Given the description of an element on the screen output the (x, y) to click on. 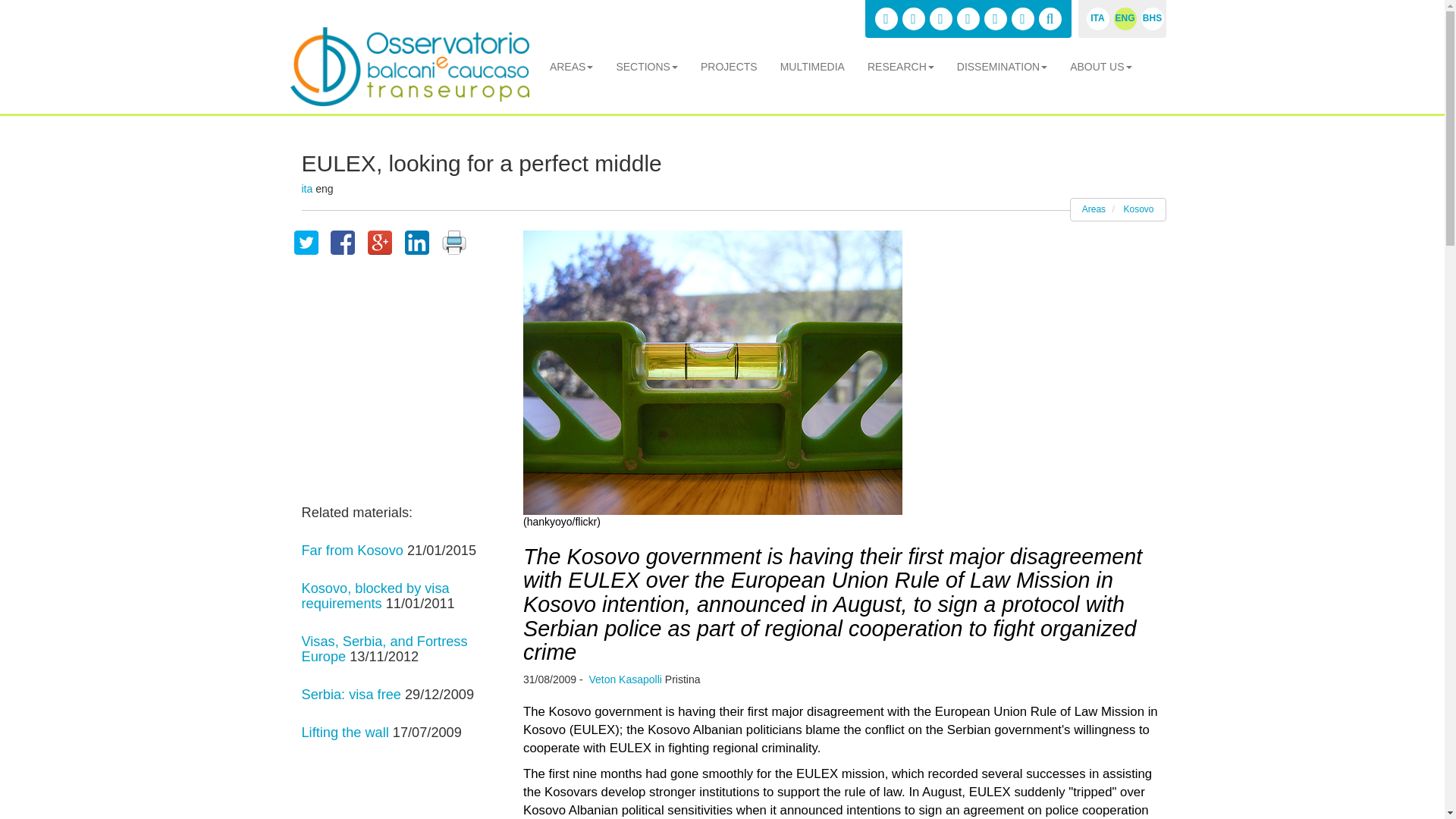
SECTIONS (647, 66)
Osservatorio Balcani e Caucaso Transeuropa (408, 66)
AREAS (571, 66)
